Given the description of an element on the screen output the (x, y) to click on. 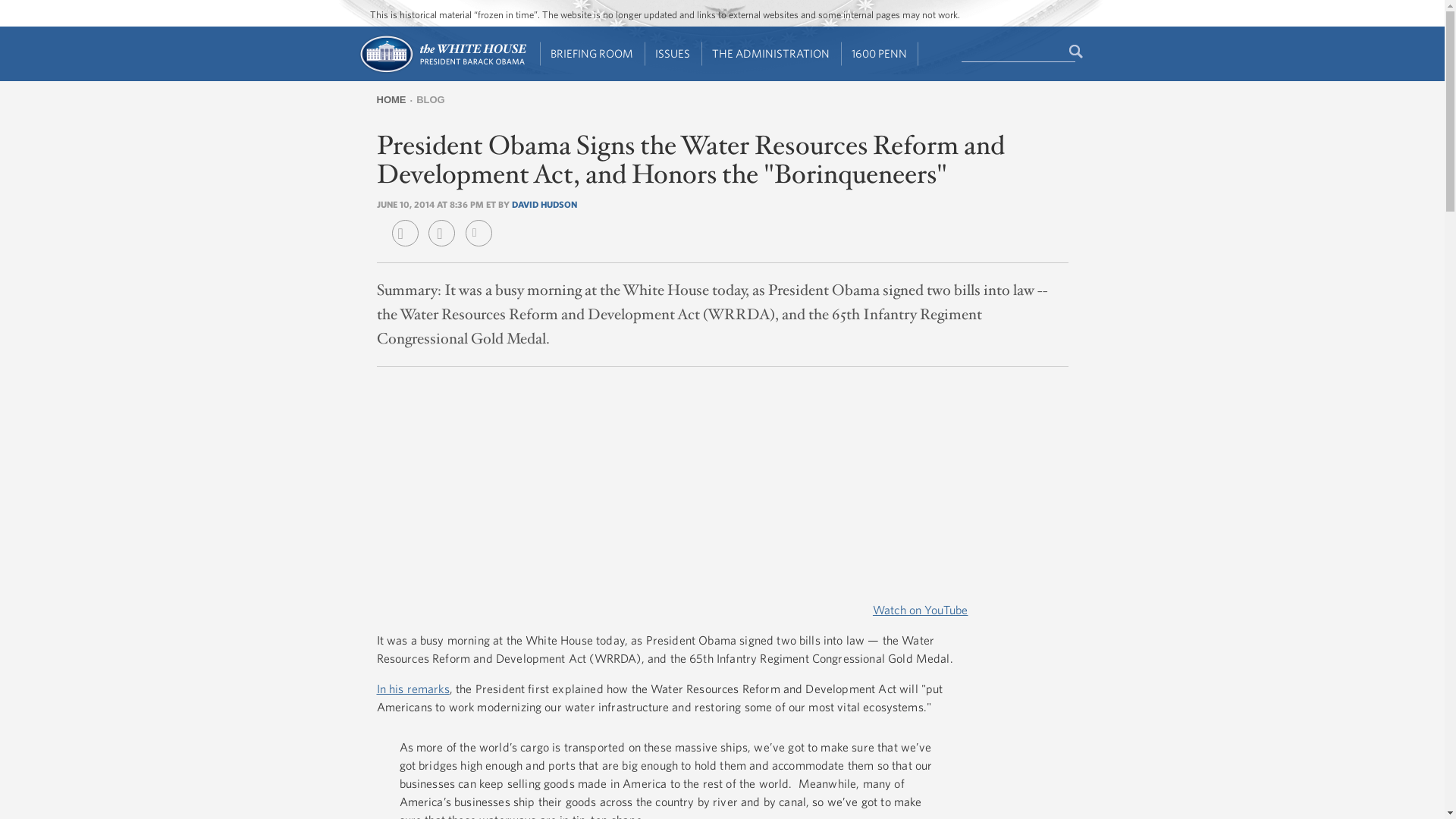
BRIEFING ROOM (592, 53)
Home (441, 70)
ISSUES (673, 53)
Enter the terms you wish to search for. (1017, 52)
Search (1076, 51)
